Given the description of an element on the screen output the (x, y) to click on. 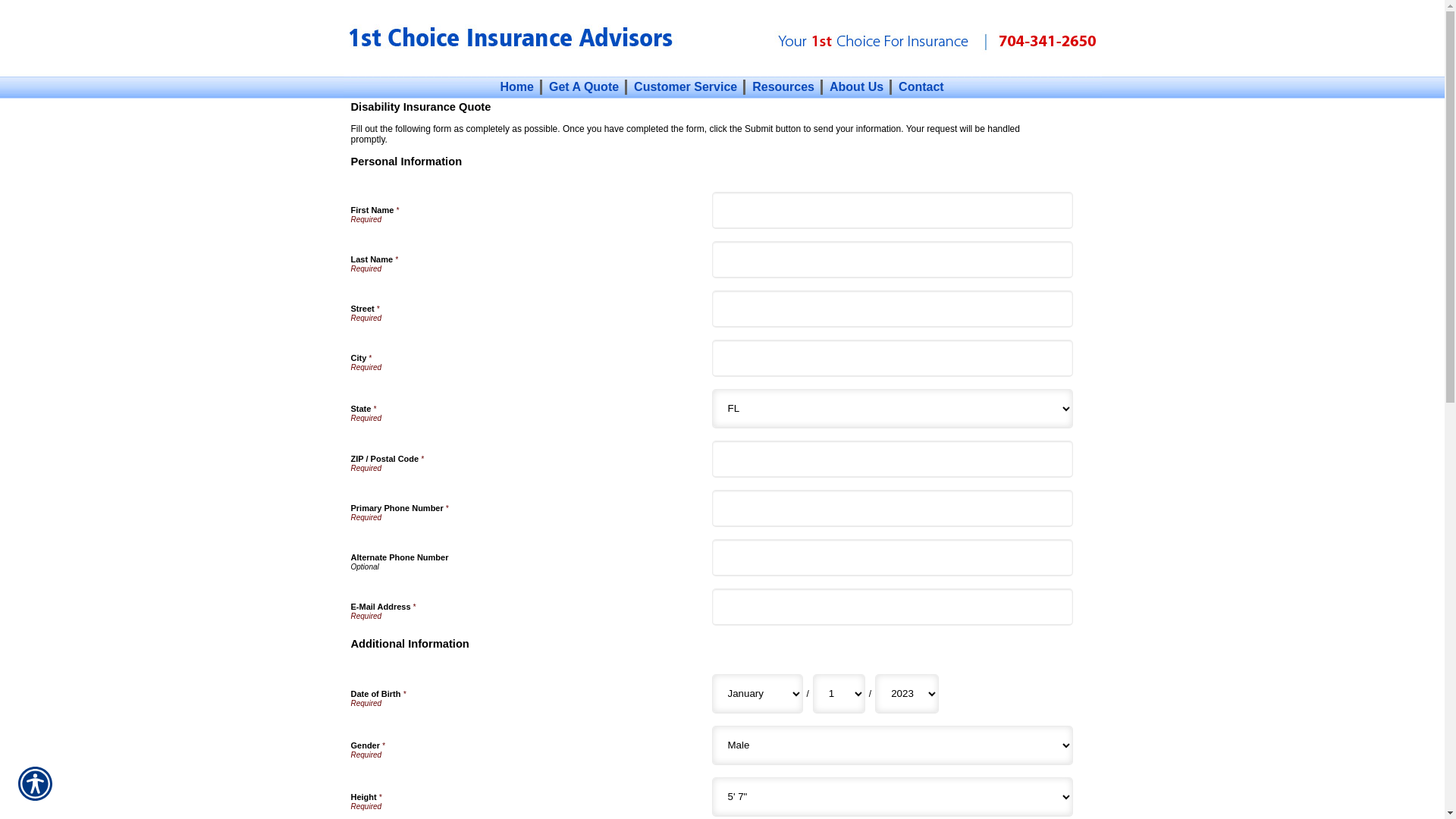
Home Element type: text (516, 86)
Customer Service Element type: text (685, 86)
Resources Element type: text (782, 86)
Contact Element type: text (921, 86)
Get A Quote Element type: text (583, 86)
About Us Element type: text (856, 86)
Toggle Accessibility Menu (Alt+A) Element type: hover (35, 783)
